Given the description of an element on the screen output the (x, y) to click on. 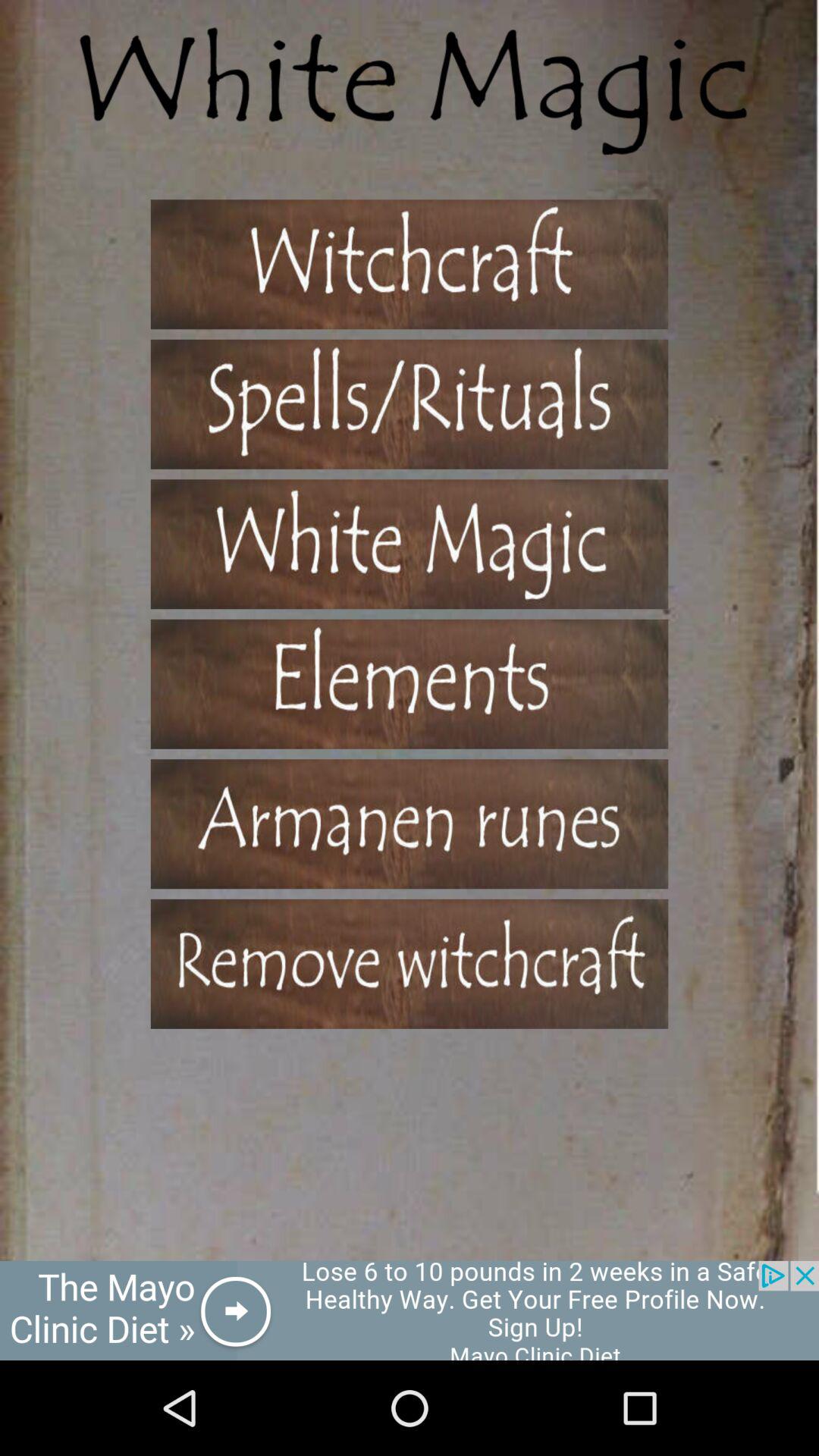
drop down menu (409, 823)
